Given the description of an element on the screen output the (x, y) to click on. 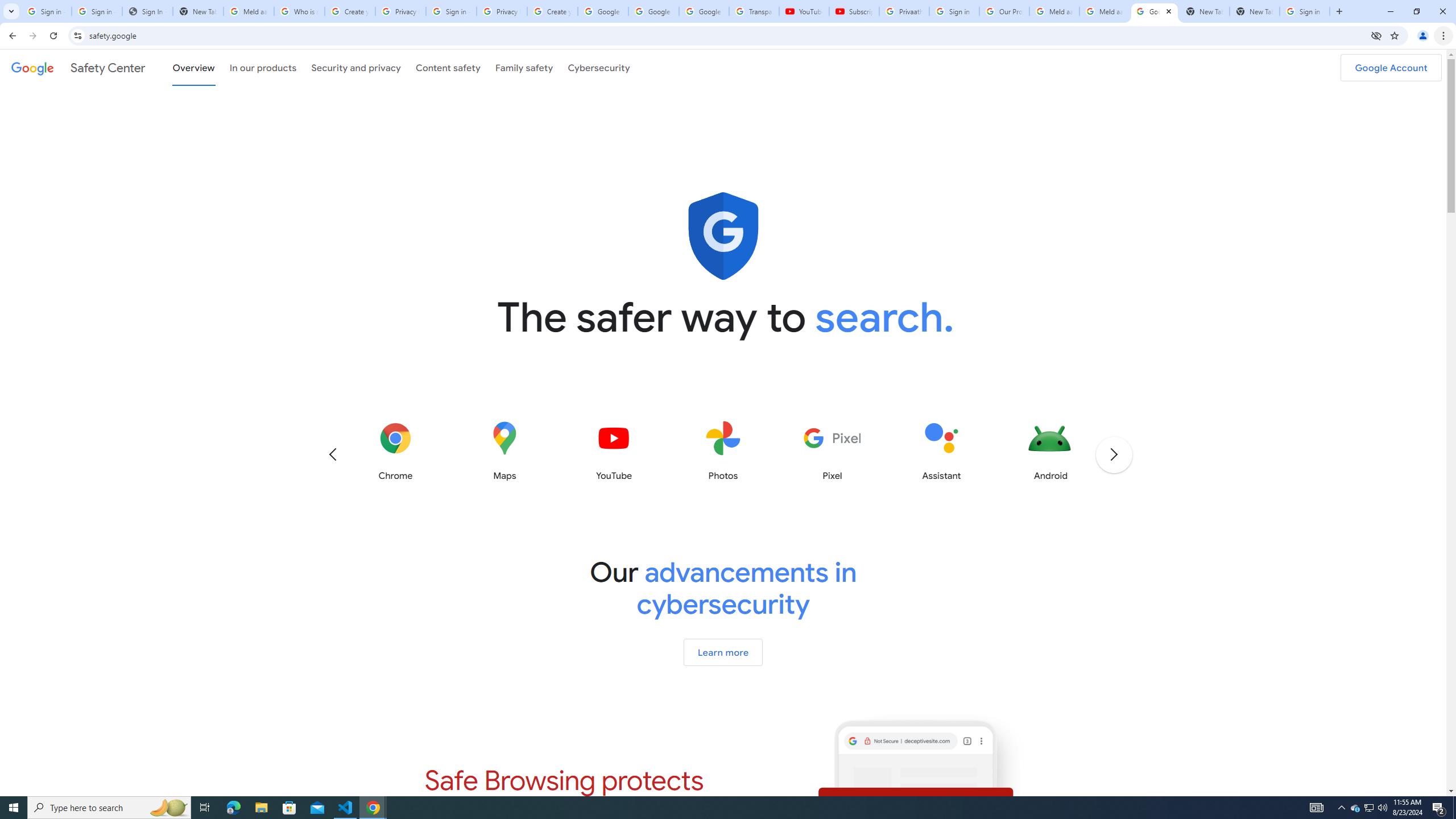
Sign in - Google Accounts (1304, 11)
AutomationID: overview-products-carousel-desktop-6 (722, 451)
Sign in - Google Accounts (46, 11)
